Given the description of an element on the screen output the (x, y) to click on. 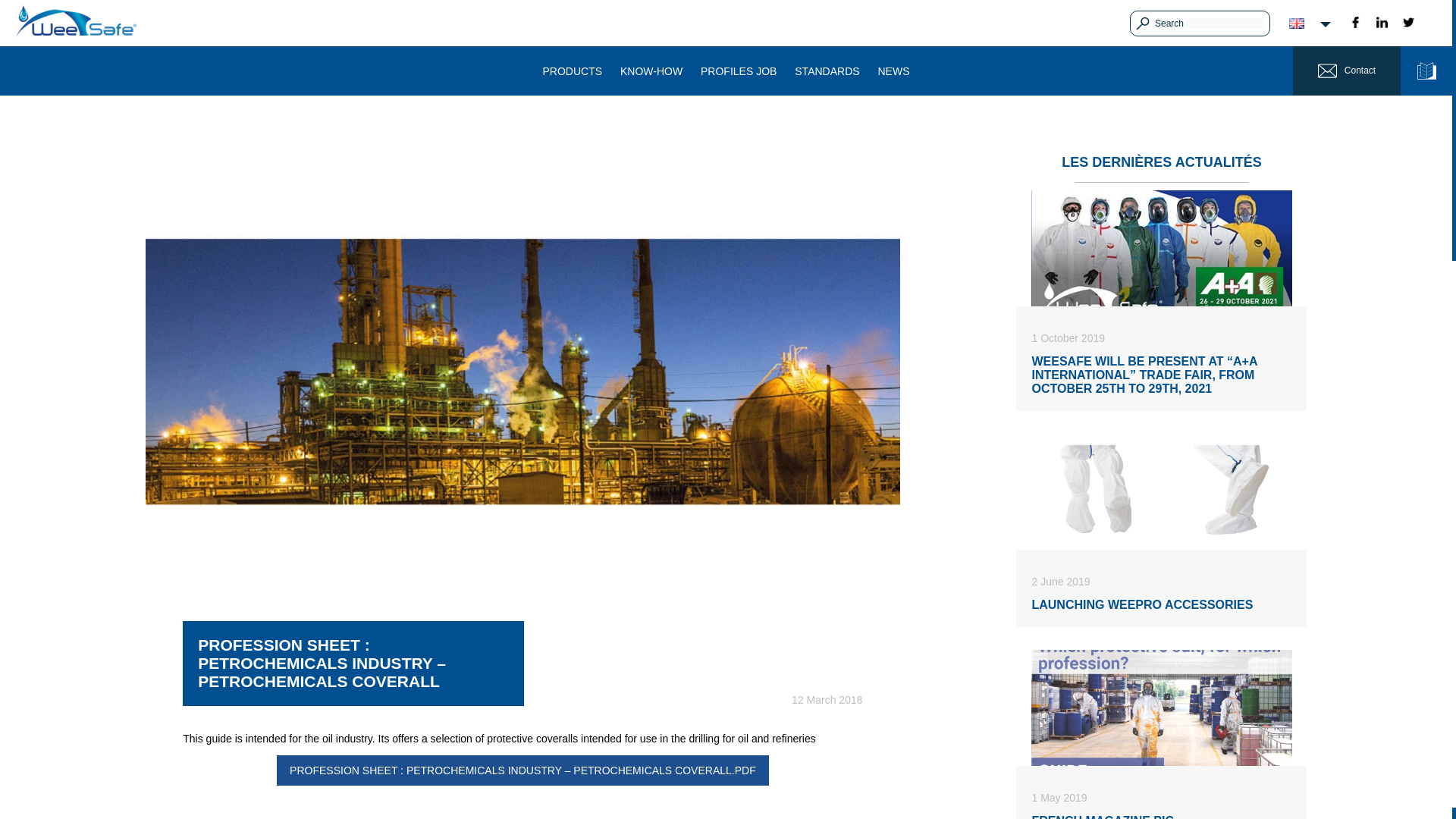
Social Network (1355, 21)
EN (1296, 23)
Social Network (1381, 21)
PROFILES JOB (738, 70)
KNOW-HOW (651, 70)
Social Network (1408, 21)
Search (1208, 23)
NEWS (892, 70)
PRODUCTS (572, 70)
STANDARDS (826, 70)
